Given the description of an element on the screen output the (x, y) to click on. 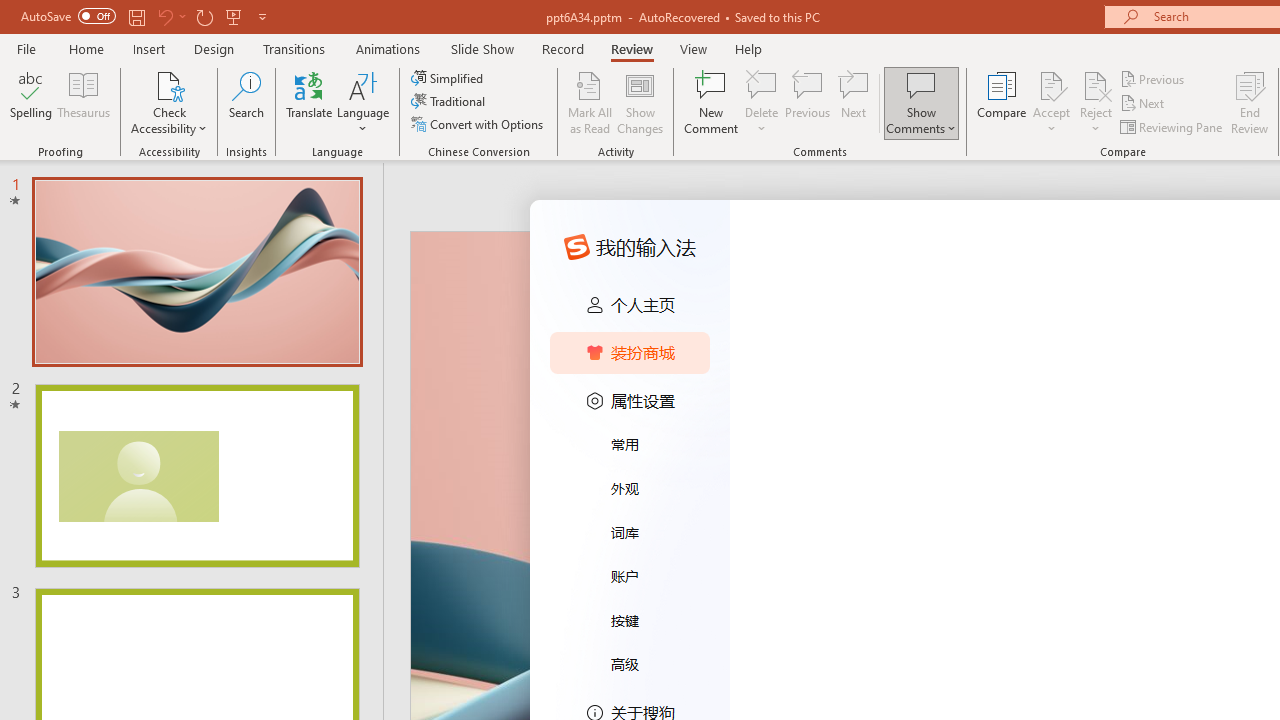
Reviewing Pane (1172, 126)
